Given the description of an element on the screen output the (x, y) to click on. 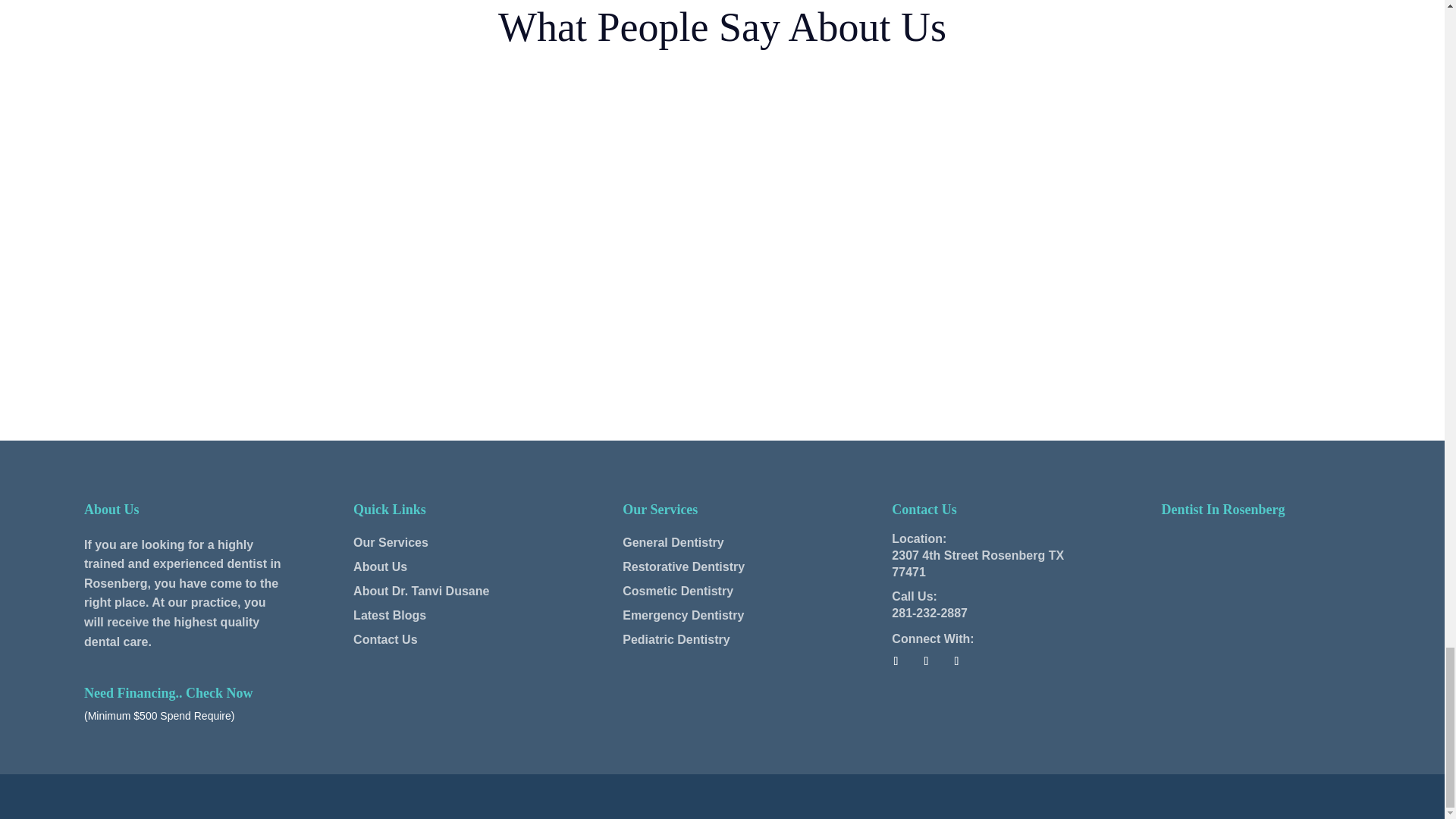
Follow on Instagram (955, 661)
Follow on Facebook (895, 661)
Follow on X (925, 661)
